Given the description of an element on the screen output the (x, y) to click on. 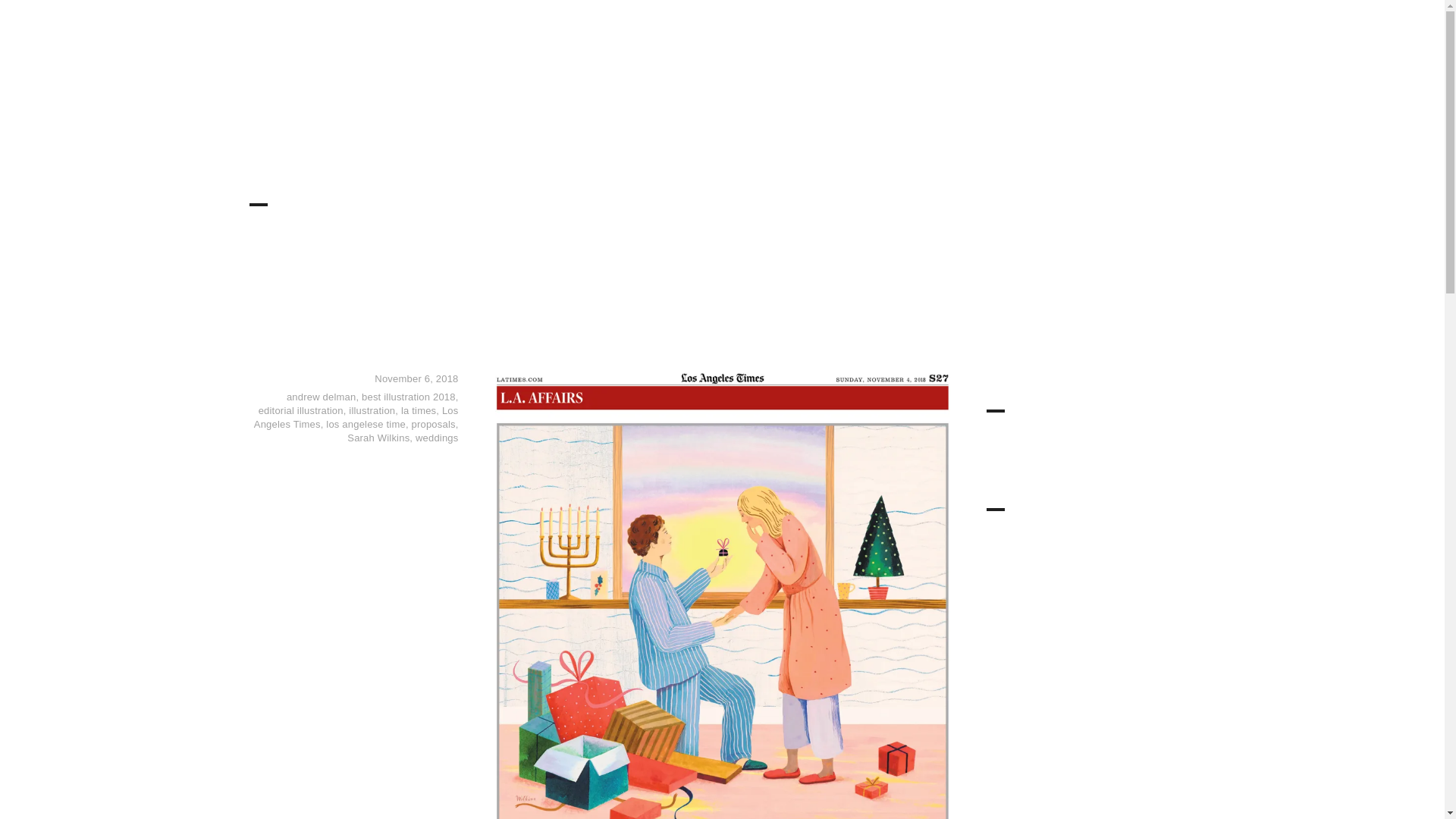
proposals (433, 423)
SARAH WILKINS (325, 47)
los angelese time (366, 423)
Home (709, 37)
Contact (1100, 37)
Sketchbook (977, 37)
editorial illustration (301, 410)
Sarah Wilkins (378, 437)
illustration (371, 410)
best illustration 2018 (408, 396)
Instagram (1167, 37)
Los Angeles Times (355, 416)
andrew delman (321, 396)
la times (418, 410)
weddings (436, 437)
